Given the description of an element on the screen output the (x, y) to click on. 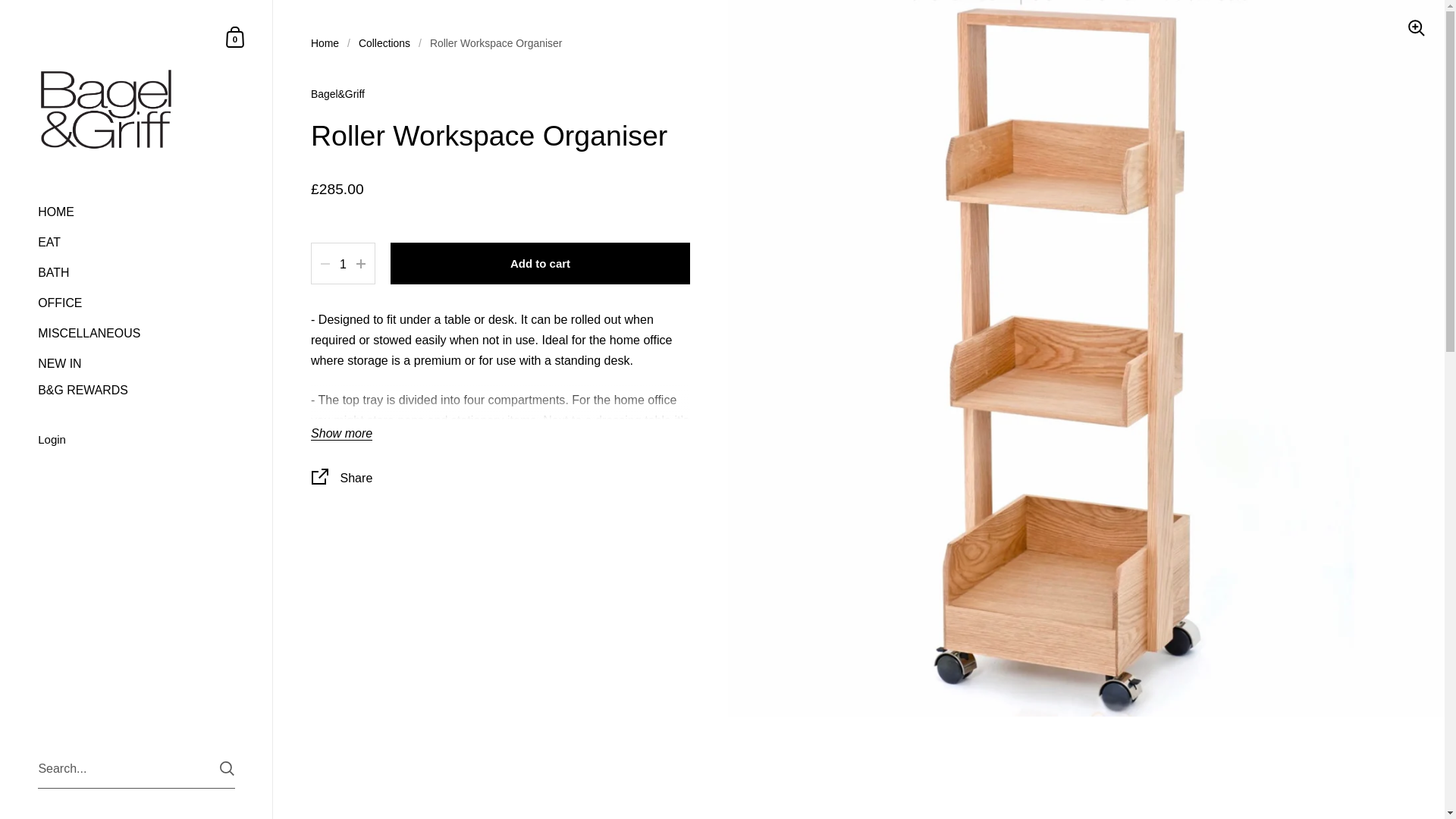
1 (342, 264)
OFFICE (136, 302)
MISCELLANEOUS (136, 332)
Home (325, 42)
EAT (136, 241)
HOME (136, 211)
Login (136, 440)
NEW IN (136, 363)
BATH (136, 272)
Shopping Cart (235, 35)
Add to cart (540, 263)
Share (500, 479)
Show more (235, 35)
